Given the description of an element on the screen output the (x, y) to click on. 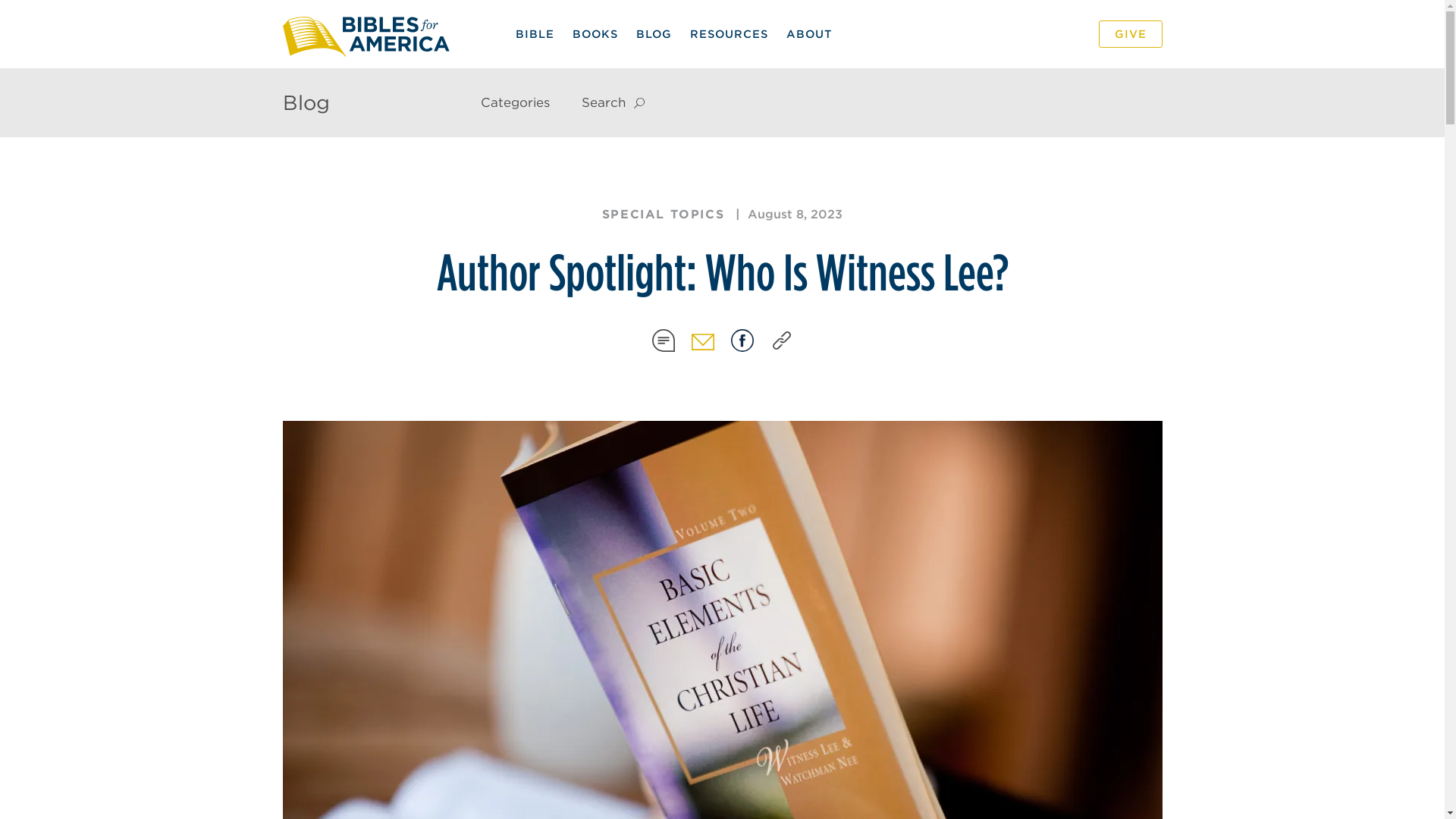
SHARE ON EMAIL (702, 340)
SPECIAL TOPICS (662, 214)
SHARE ON COPY LINK (780, 340)
RESOURCES (729, 33)
ABOUT (808, 33)
BLOG (652, 33)
BOOKS (594, 33)
Blog (305, 102)
SHARE ON SMS (662, 340)
Categories (515, 101)
SHARE ON FACEBOOK (741, 340)
BIBLE (534, 33)
Search (831, 103)
GIVE (1129, 33)
